Given the description of an element on the screen output the (x, y) to click on. 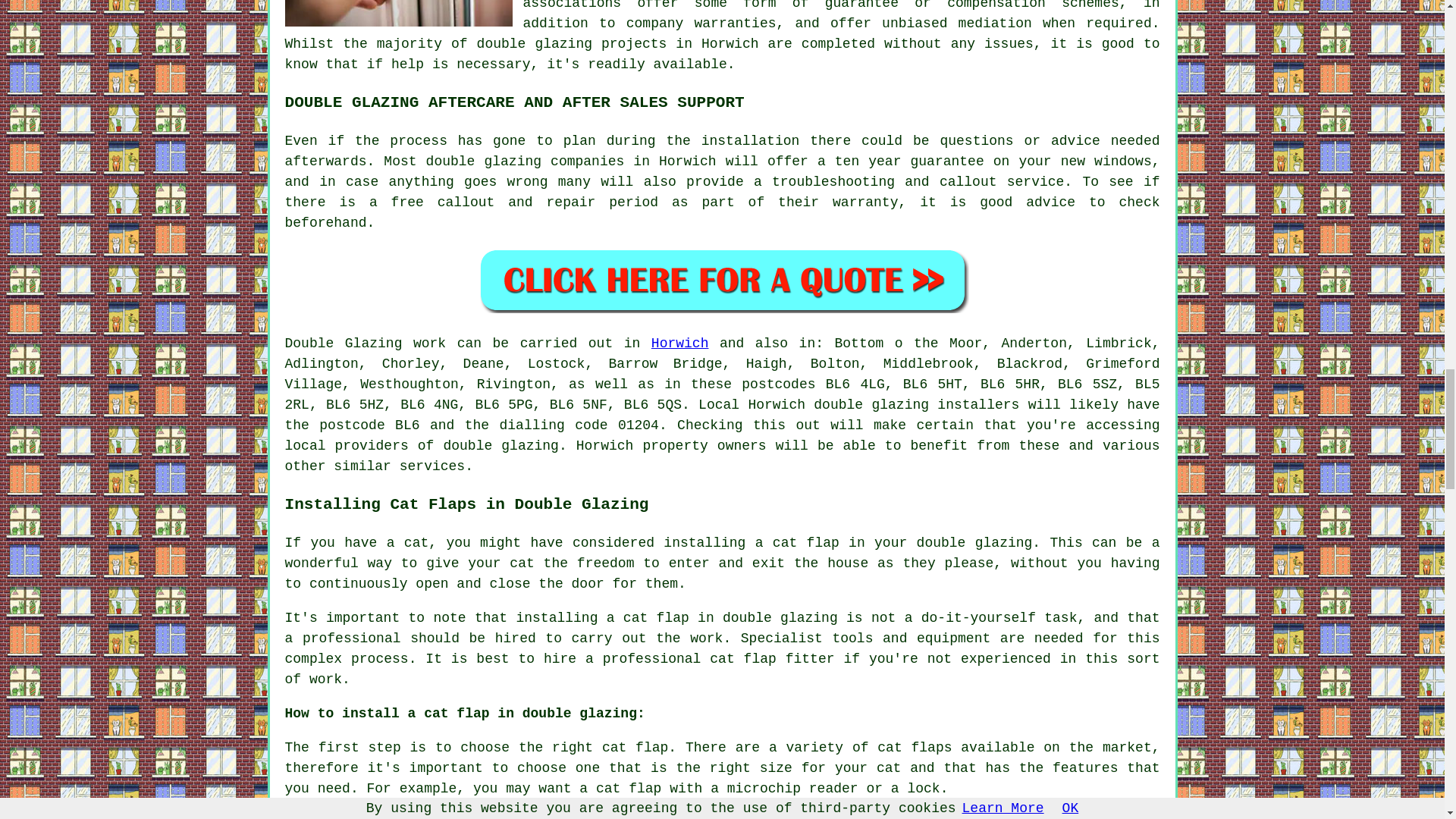
Book a Window Fitter in Horwich UK (722, 279)
